Given the description of an element on the screen output the (x, y) to click on. 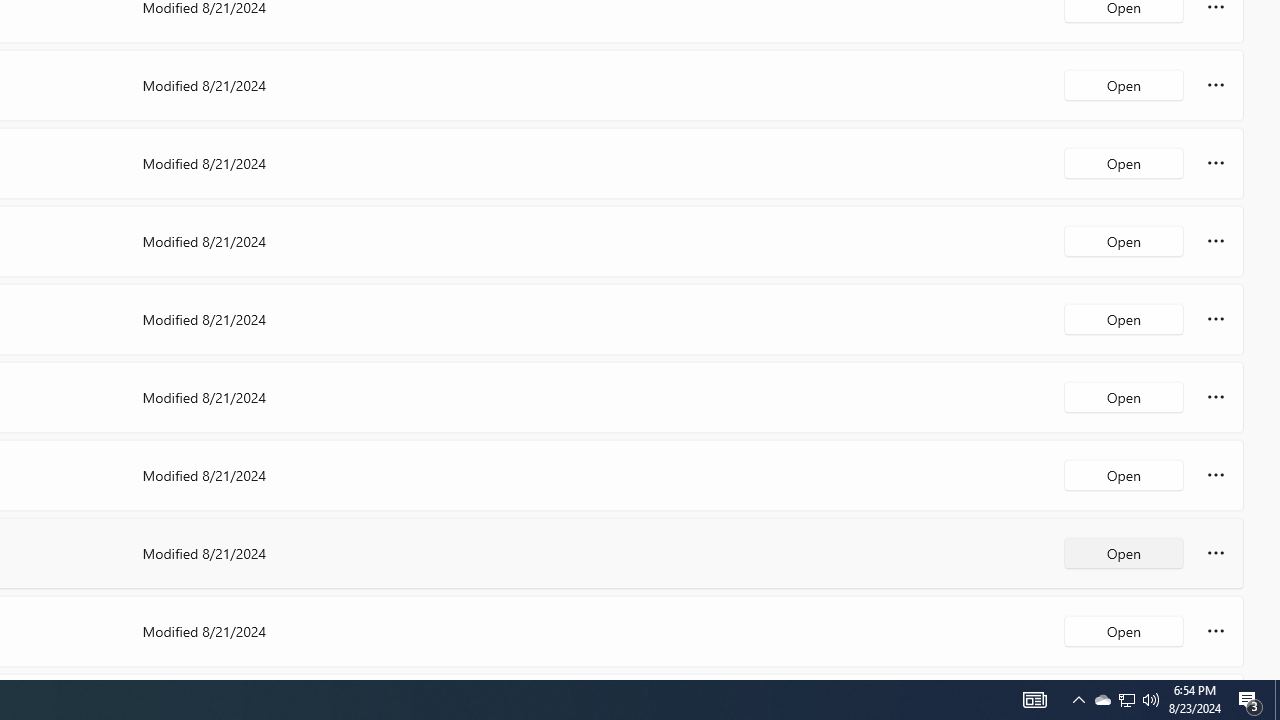
Open (1123, 630)
More options (1215, 630)
